Given the description of an element on the screen output the (x, y) to click on. 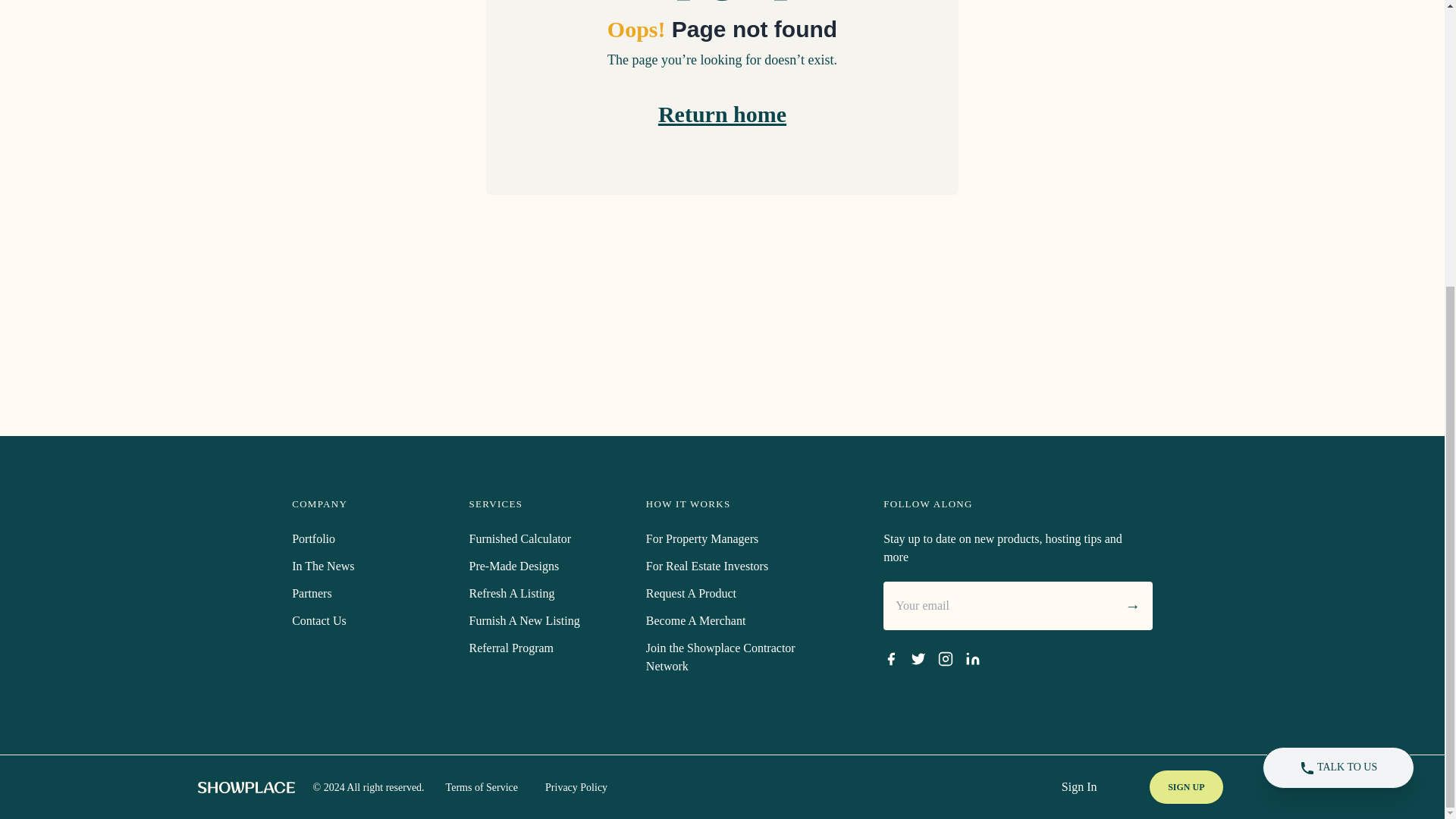
Contact Us (319, 620)
Furnished Calculator (519, 538)
For Real Estate Investors (707, 565)
For Property Managers (702, 538)
Partners (311, 593)
Become A Merchant (695, 620)
Referral Program (510, 647)
Sign In (1079, 786)
TALK TO US (1337, 334)
Pre-Made Designs (513, 565)
